Given the description of an element on the screen output the (x, y) to click on. 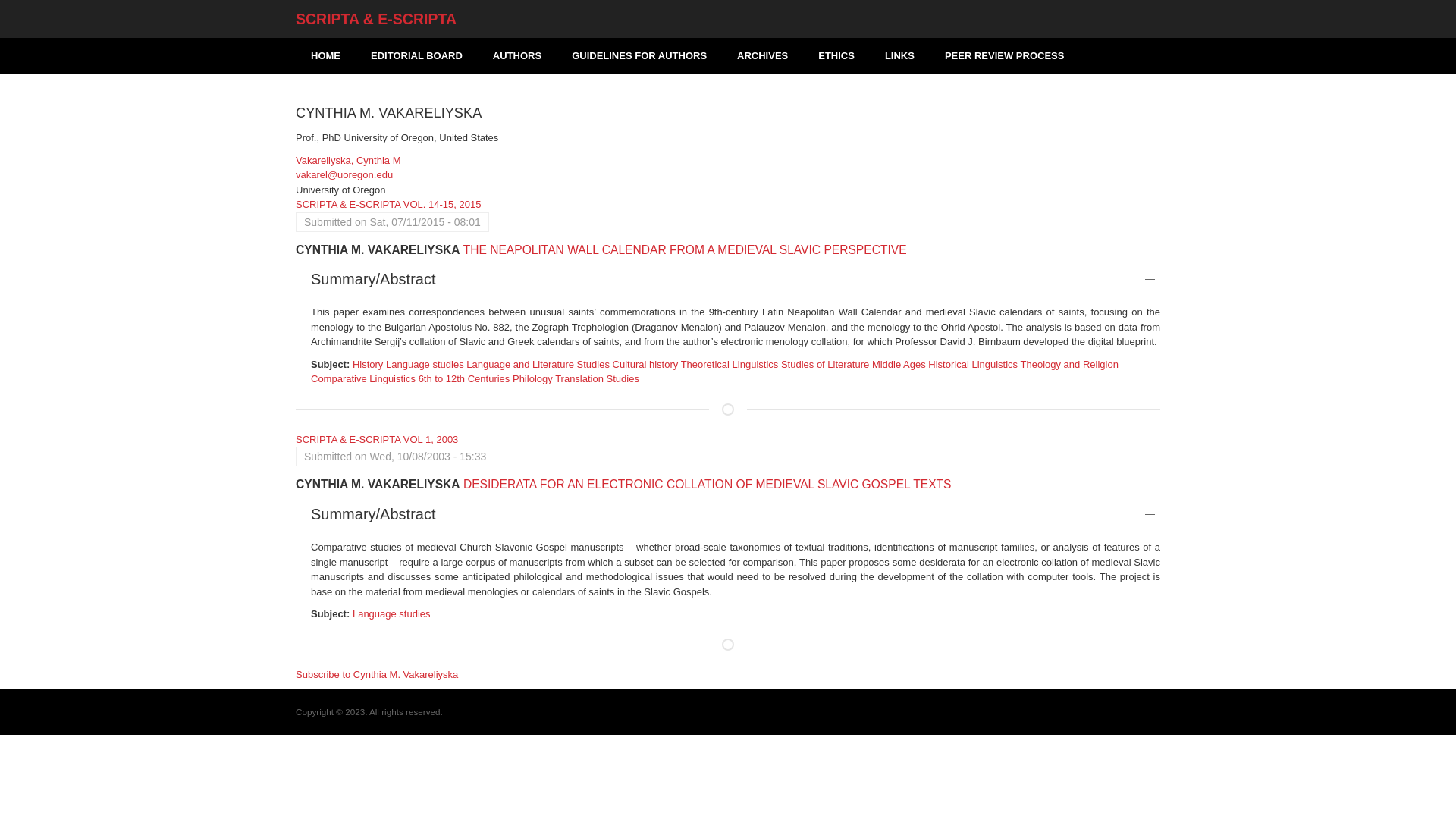
ARCHIVES (762, 55)
PEER REVIEW PROCESS (1004, 55)
HOME (325, 55)
Language and Literature Studies (537, 364)
GUIDELINES FOR AUTHORS (639, 55)
LINKS (899, 55)
Vakareliyska, Cynthia M (347, 160)
EDITORIAL BOARD (416, 55)
EDITORIAL BOARD (416, 55)
